Given the description of an element on the screen output the (x, y) to click on. 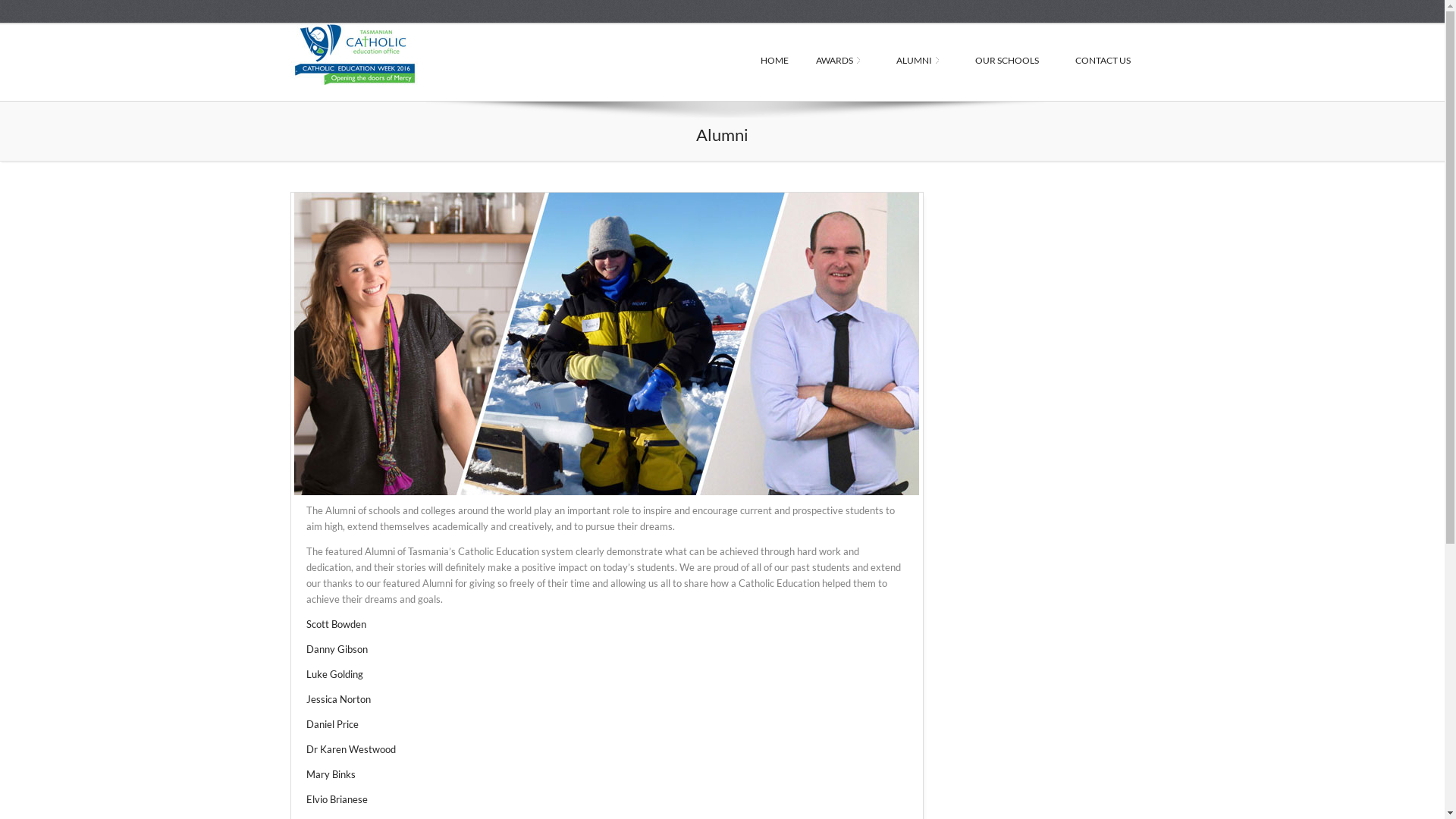
Scott Bowden Element type: text (336, 624)
Luke Golding Element type: text (334, 674)
AWARDS  Element type: text (842, 61)
CONTACT US Element type: text (1107, 61)
OUR SCHOOLS Element type: text (1011, 61)
HOME Element type: text (773, 61)
Dr Karen Westwood Element type: text (350, 749)
Elvio Brianese Element type: text (336, 799)
Danny Gibson Element type: text (336, 649)
Mary Binks Element type: text (330, 774)
Daniel Price Element type: text (332, 724)
TCEO Element type: text (395, 54)
Jessica Norton Element type: text (338, 699)
ALUMNI  Element type: text (921, 61)
